Given the description of an element on the screen output the (x, y) to click on. 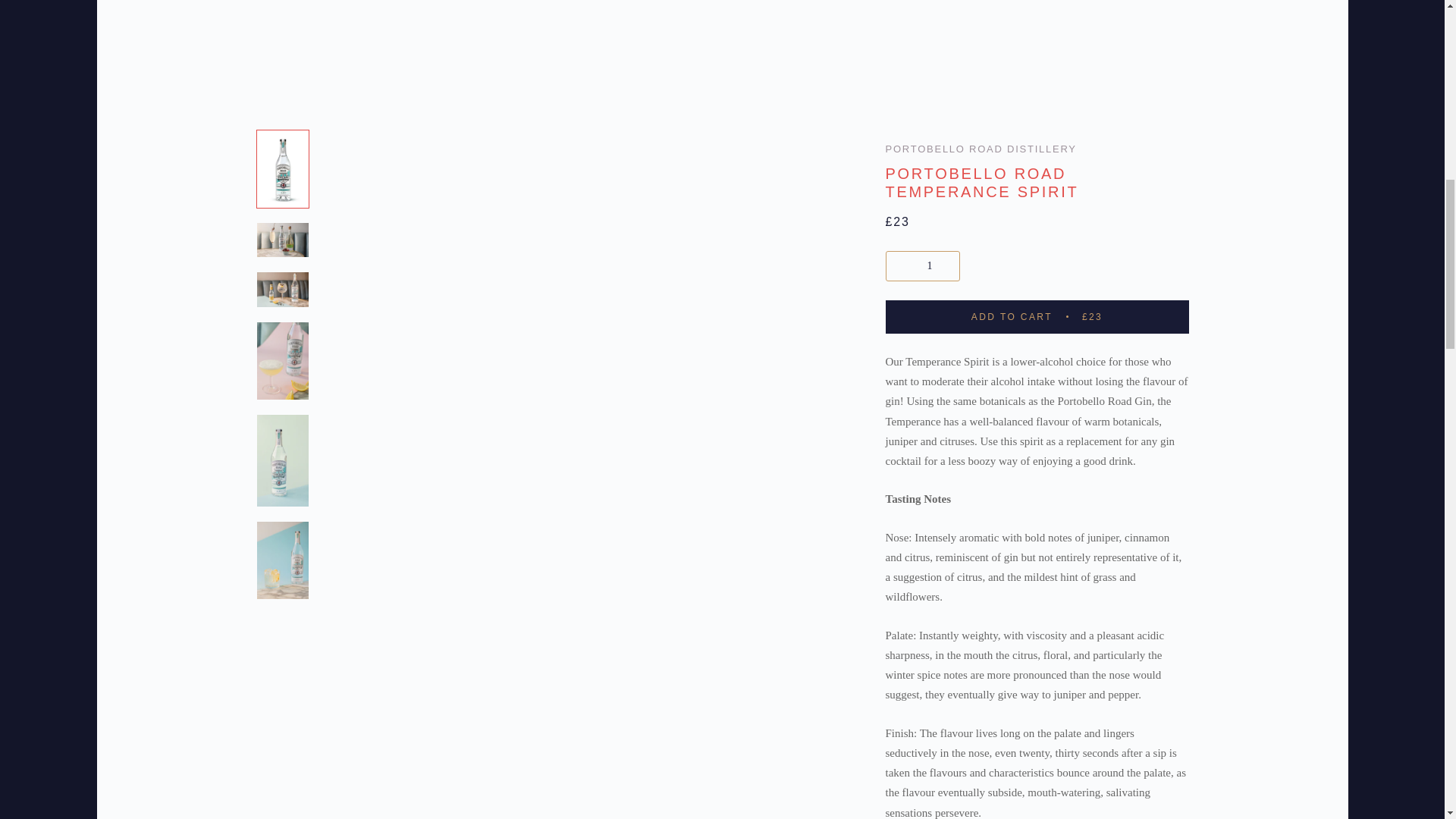
Temperance Spirit Recipes (904, 31)
